Given the description of an element on the screen output the (x, y) to click on. 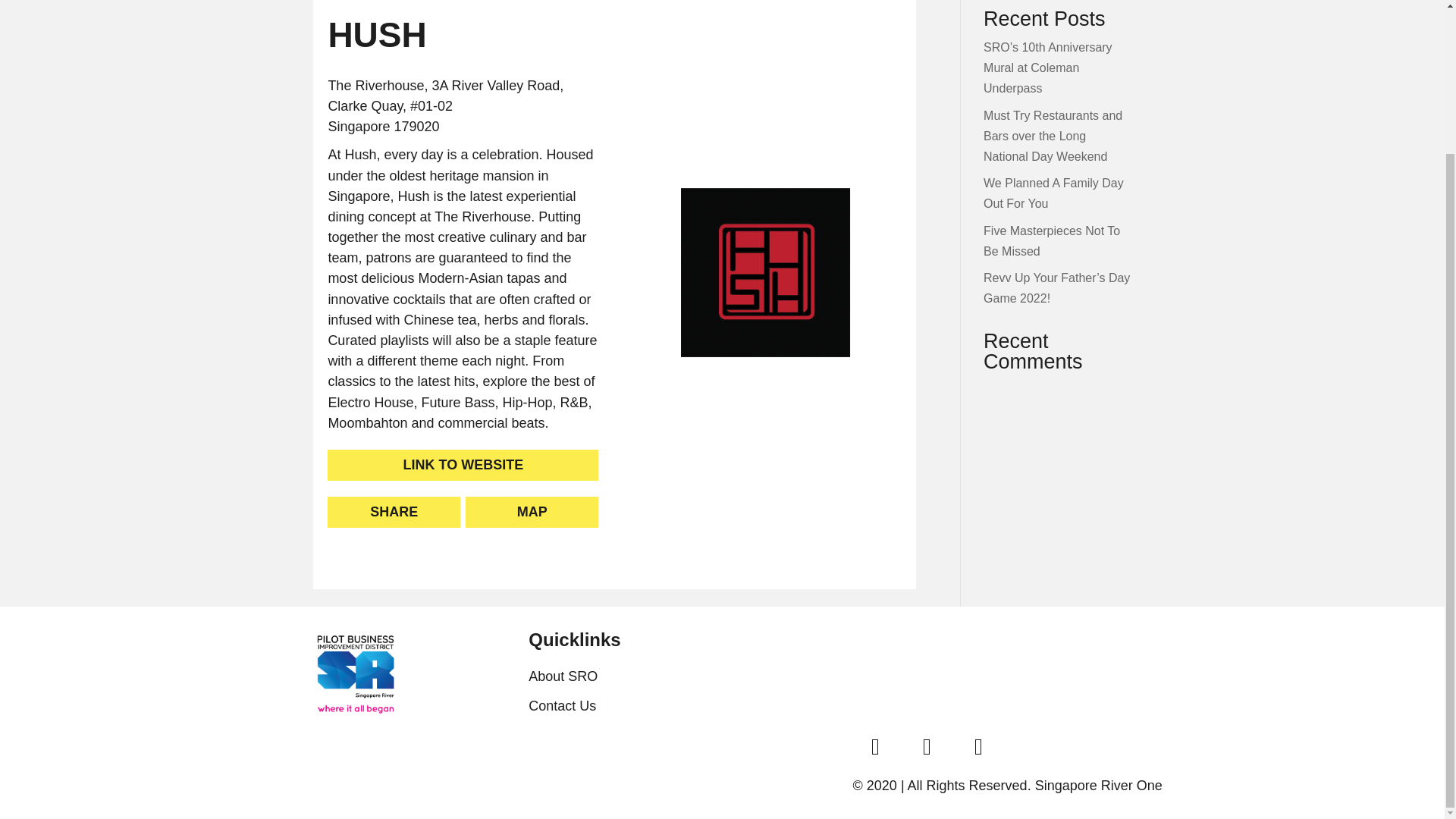
hush (765, 272)
Follow on Instagram (927, 746)
Follow on Facebook (875, 746)
SHARE (393, 511)
Follow on TikTok (978, 746)
LINK TO WEBSITE (462, 464)
